Given the description of an element on the screen output the (x, y) to click on. 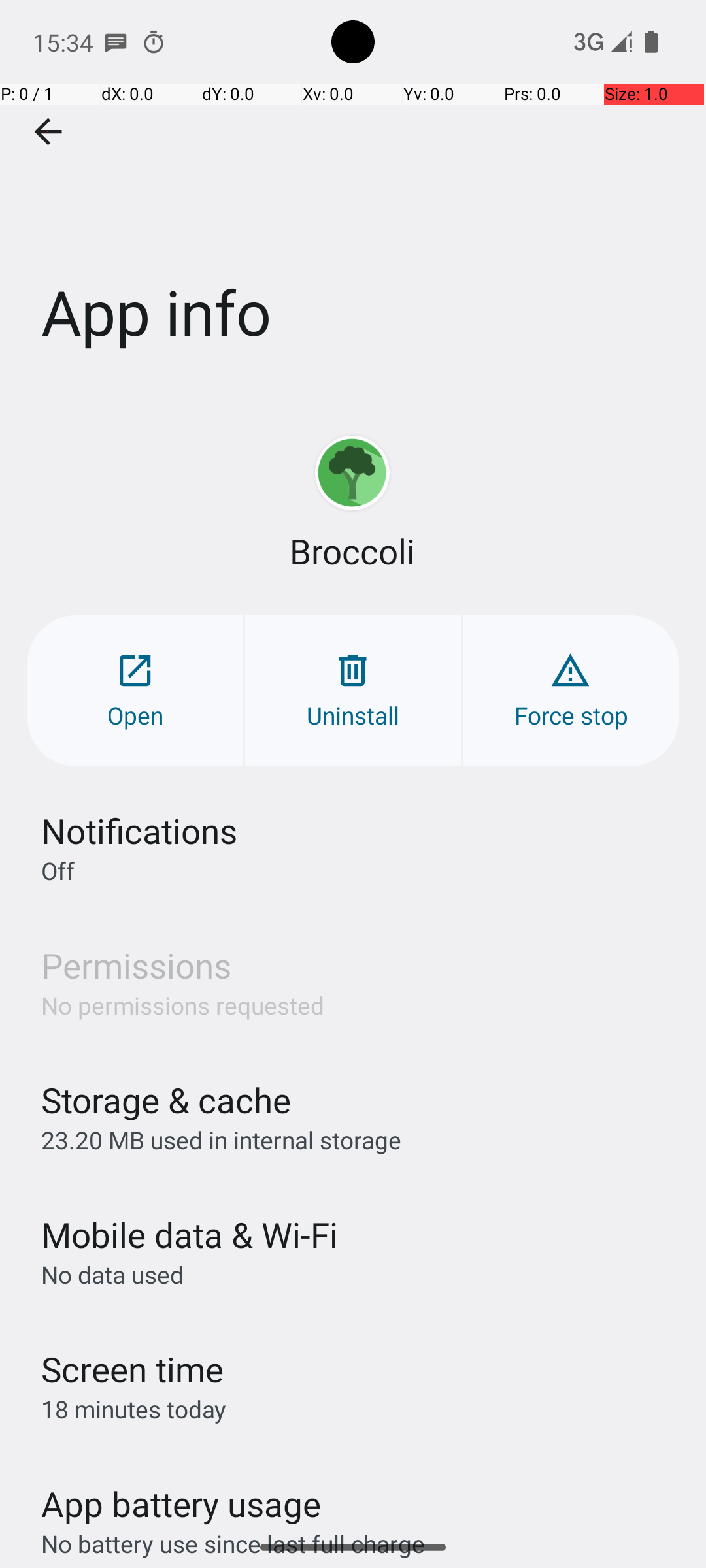
No permissions requested Element type: android.widget.TextView (182, 1004)
23.20 MB used in internal storage Element type: android.widget.TextView (221, 1139)
18 minutes today Element type: android.widget.TextView (133, 1408)
